Given the description of an element on the screen output the (x, y) to click on. 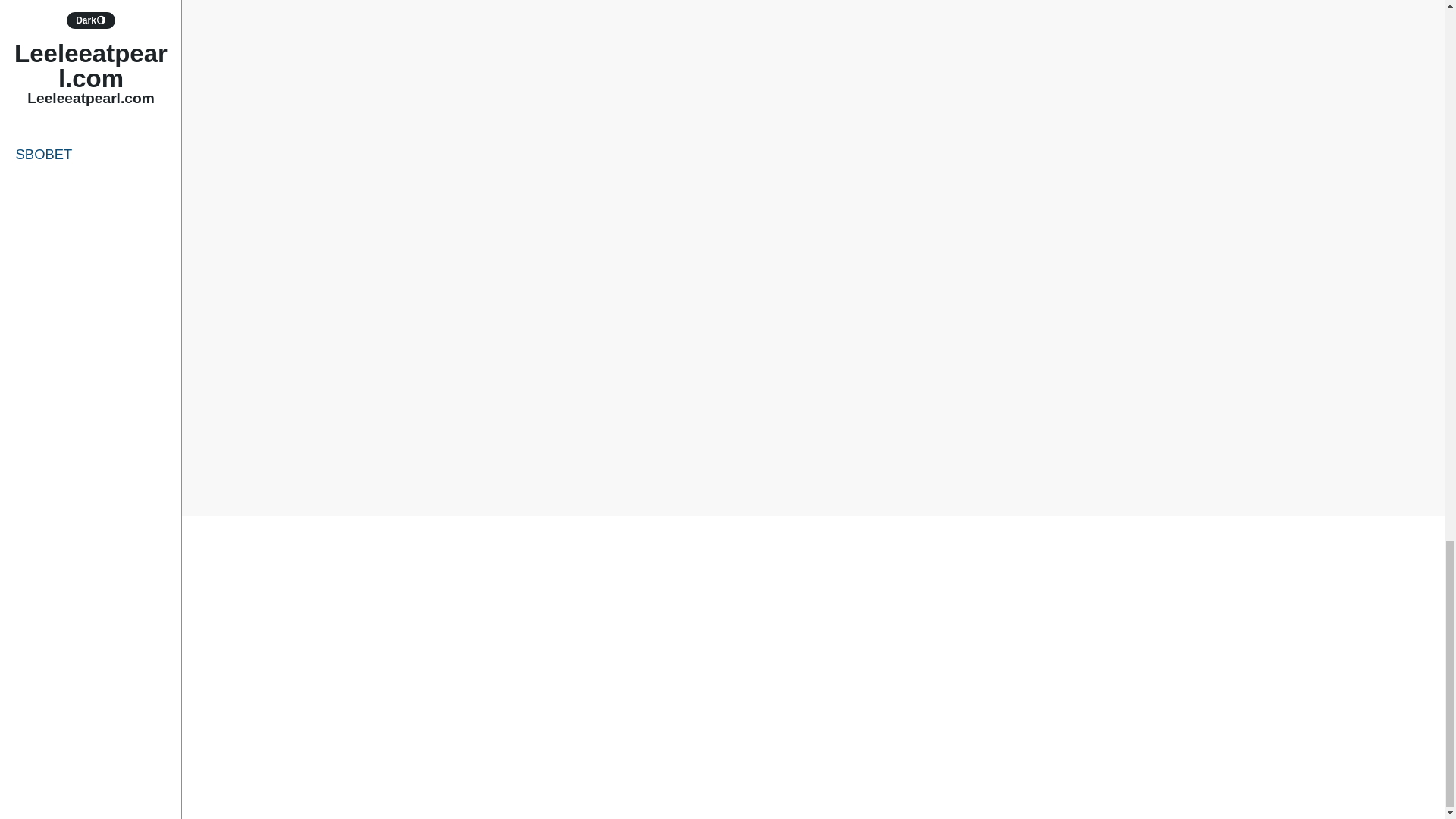
data sdy 6d (1029, 403)
keluaran togel sidney (808, 453)
pengeluaran sdy hari ini (1003, 463)
keluaran sdy live (945, 443)
data sdy hari ini (583, 423)
data sdy master (678, 423)
togel sidney hari ini (974, 483)
pengeluaran togel sidney (731, 483)
keluaran sdy lengkap (833, 443)
Gambling (634, 383)
cek data sdy (623, 403)
pengeluaran data sdy (753, 463)
data sahabat sdy (942, 403)
keluaran sdy hari ini (801, 433)
keluaran sdy 6d (964, 423)
